Given the description of an element on the screen output the (x, y) to click on. 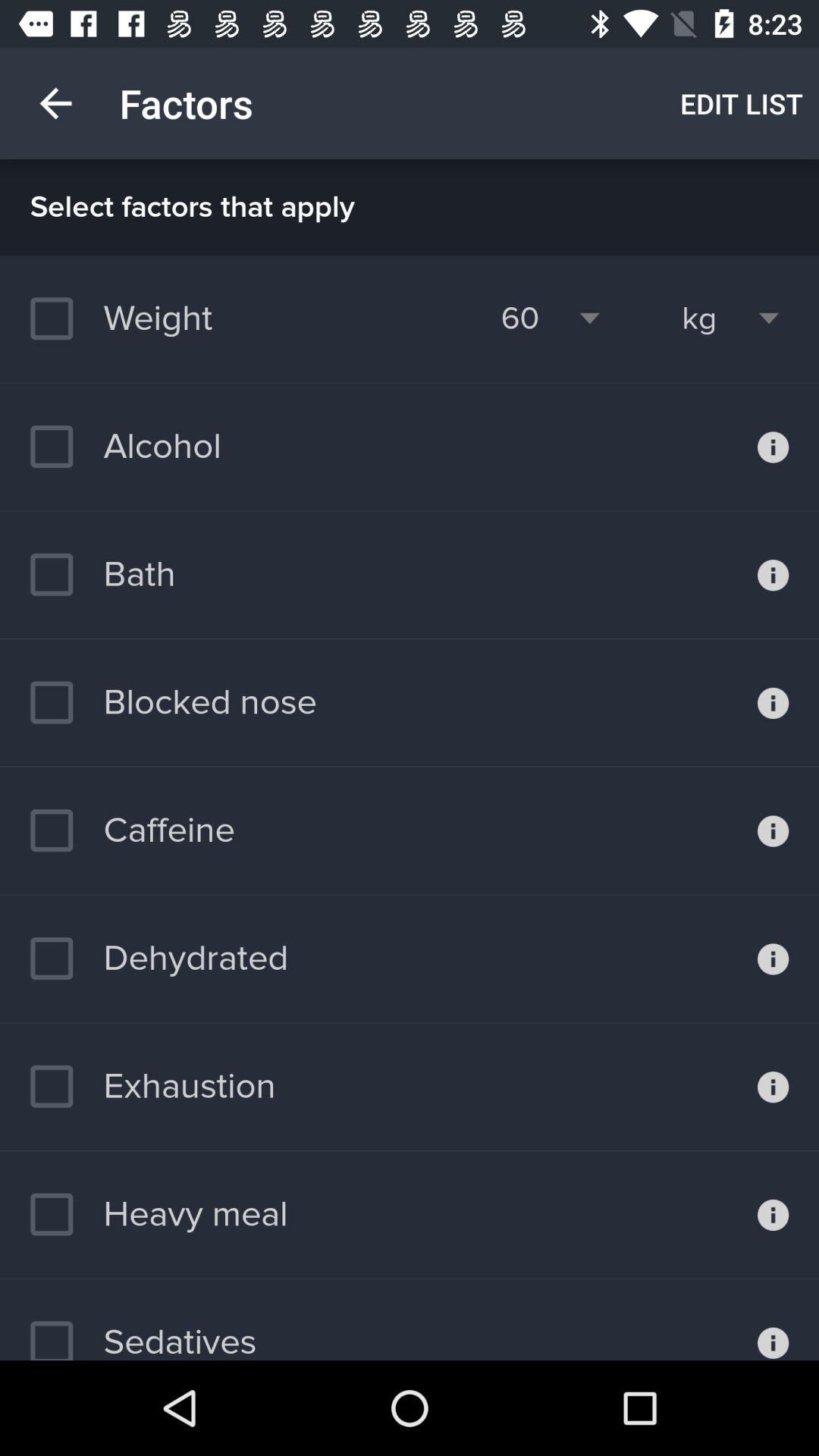
select item below caffeine item (159, 958)
